Given the description of an element on the screen output the (x, y) to click on. 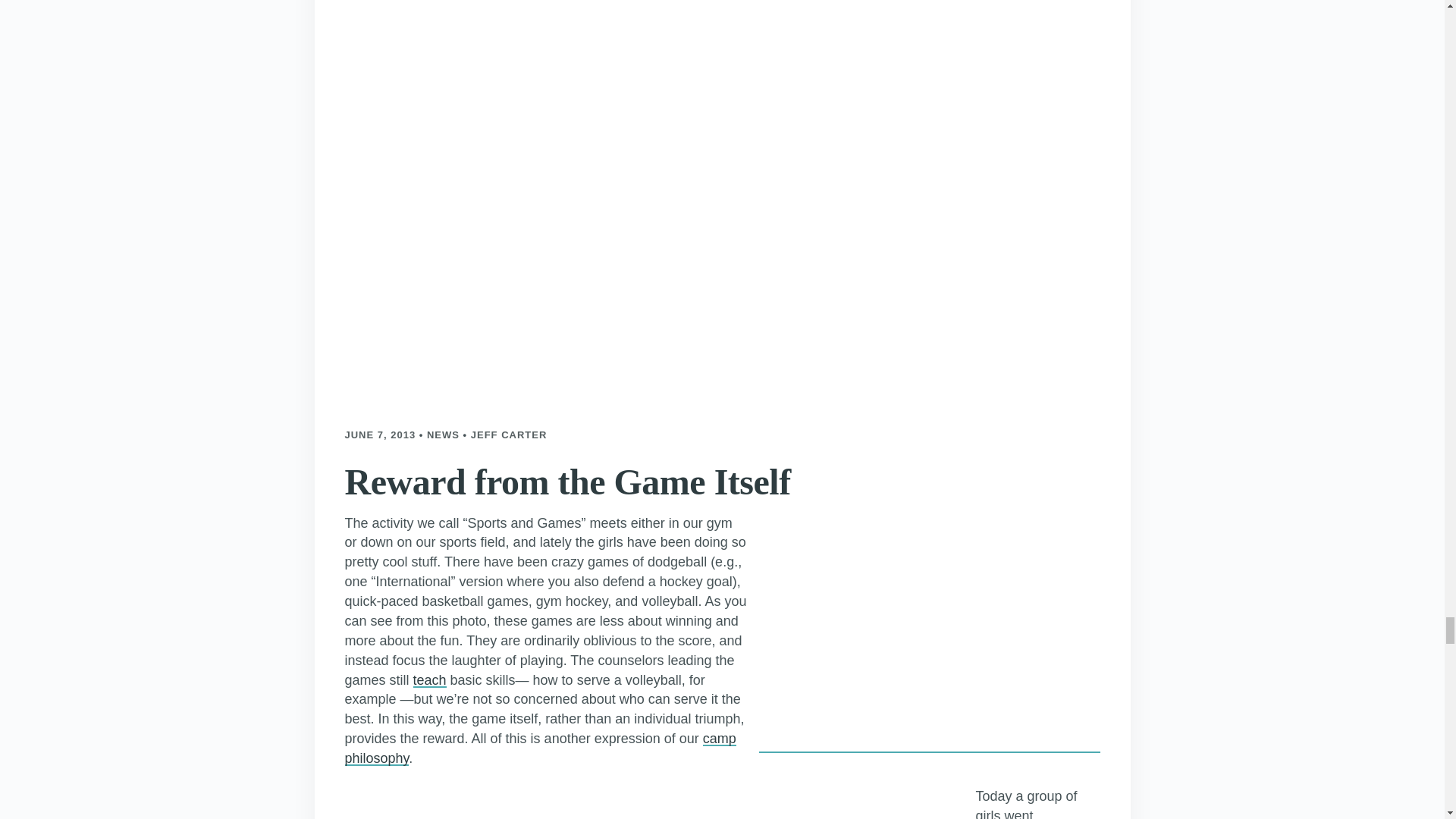
Rockbrook Camp Philosophy (539, 748)
